Given the description of an element on the screen output the (x, y) to click on. 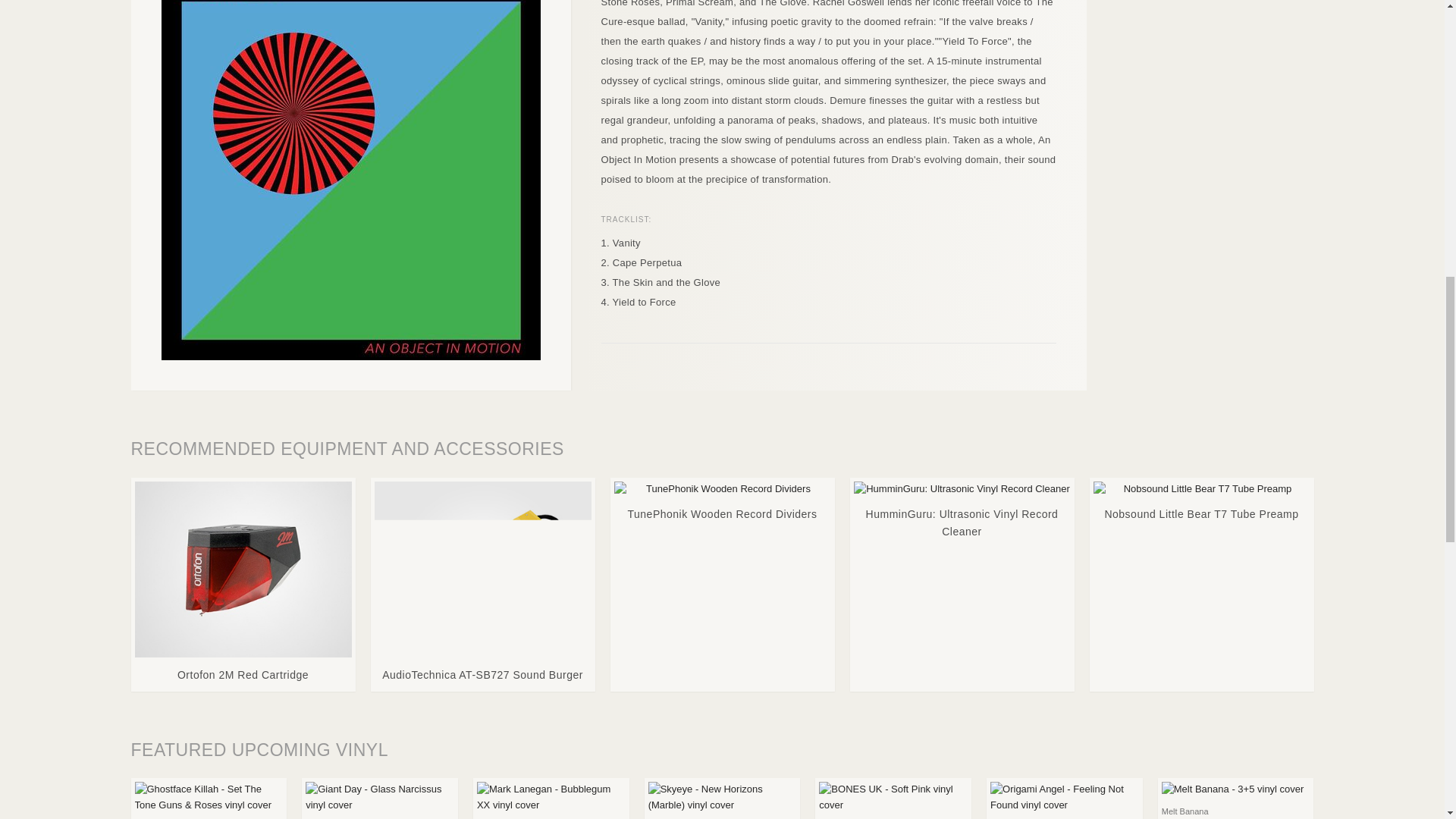
Ortofon 2M Red Cartridge (243, 584)
AudioTechnica AT-SB727 Sound Burger (482, 584)
TunePhonik Wooden Record Dividers (722, 504)
